Given the description of an element on the screen output the (x, y) to click on. 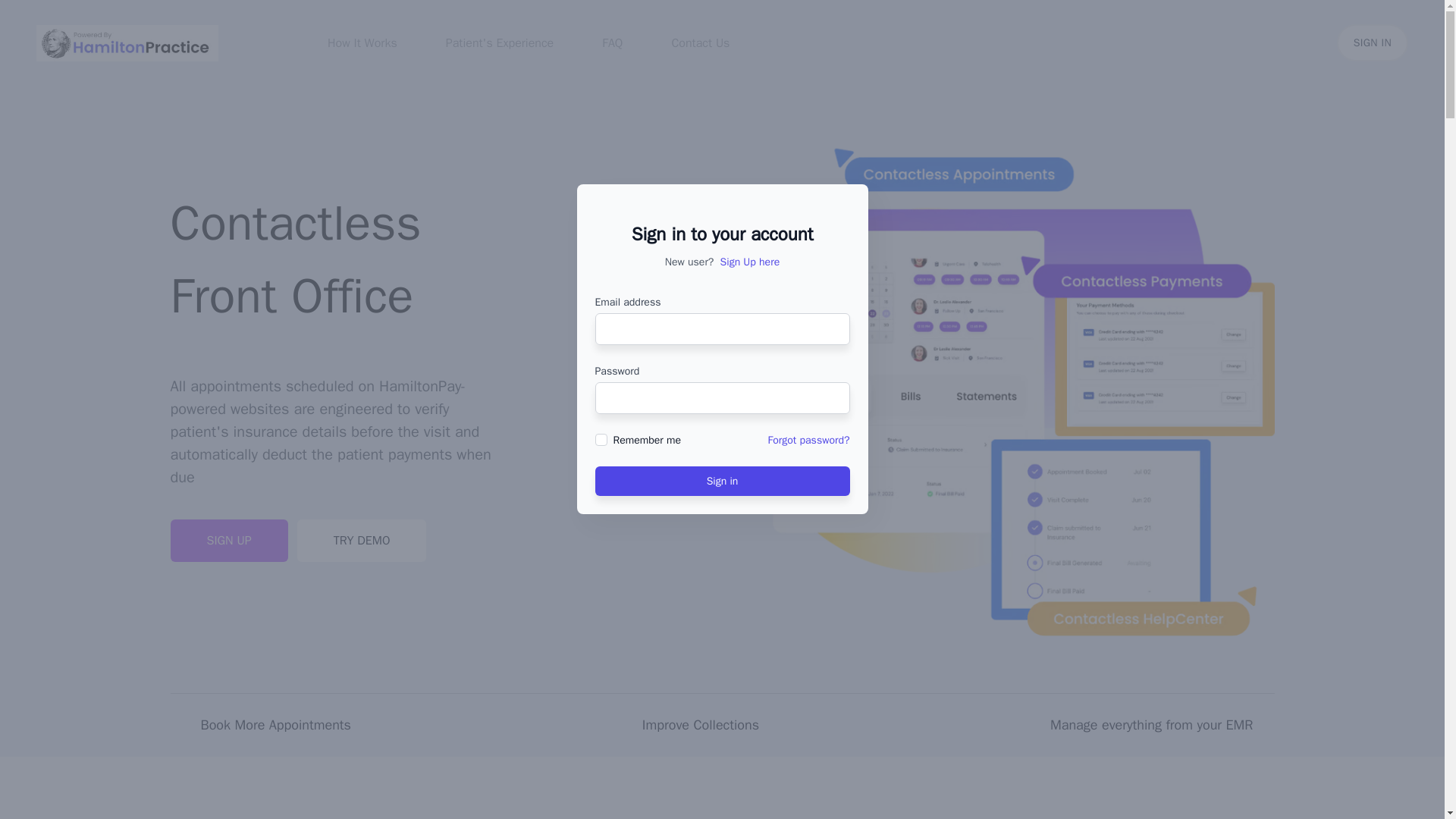
Forgot password? (809, 440)
true (600, 439)
Contact Us (700, 42)
Patient's Experience (499, 42)
Sign Up here (750, 260)
FAQ (612, 42)
TRY DEMO (361, 540)
TRY DEMO (361, 540)
Sign in (721, 480)
SIGN IN (1371, 42)
